Given the description of an element on the screen output the (x, y) to click on. 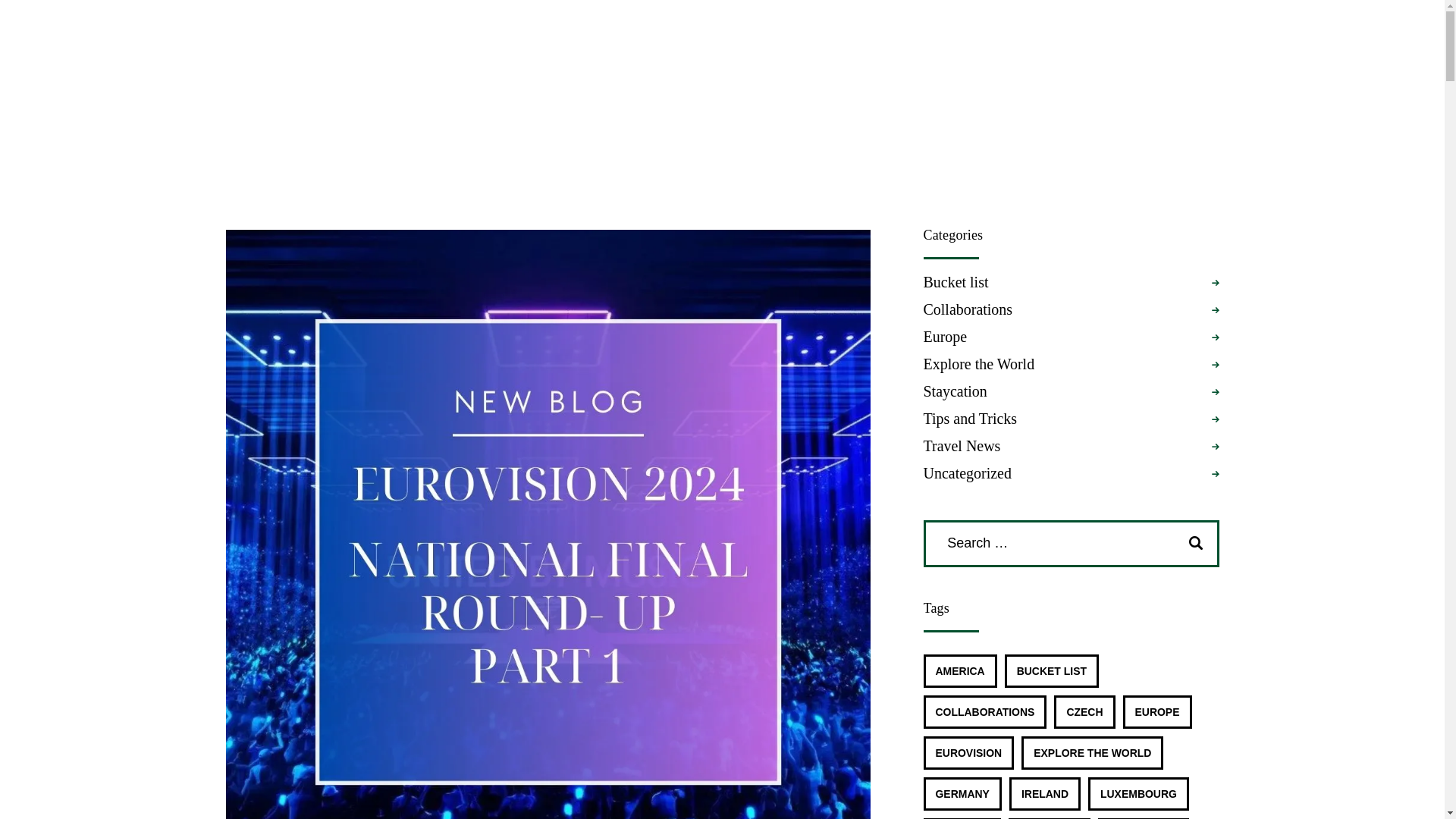
Search (1198, 543)
HOME (1063, 72)
CONTACT (1372, 72)
GALLERY (1284, 72)
ABOUT (1136, 72)
BLOG (1207, 72)
Search (1198, 543)
